Given the description of an element on the screen output the (x, y) to click on. 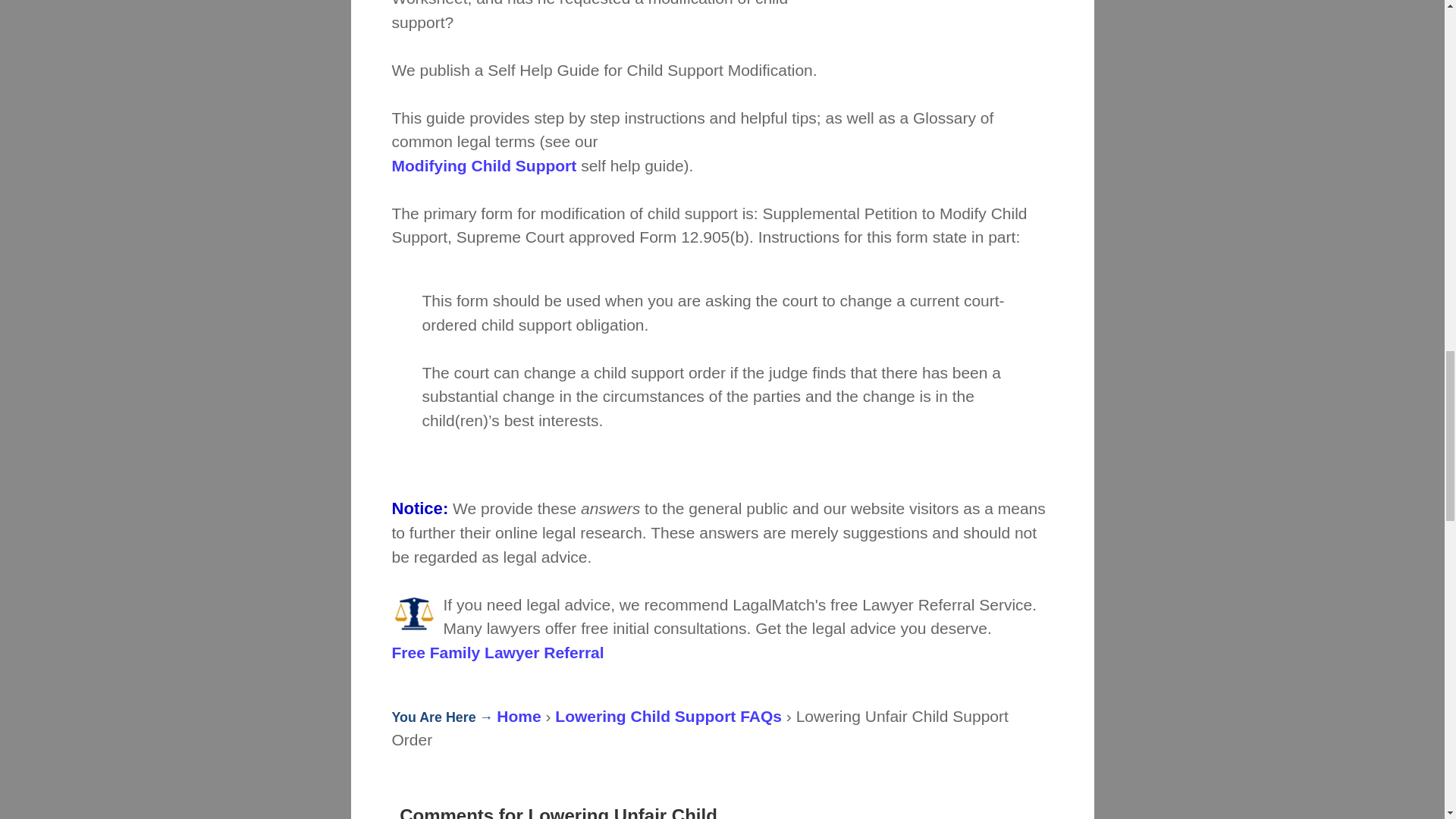
Free Family Lawyer Referral (497, 651)
Lowering Child Support FAQs (667, 715)
Free Referrals to Local Attorneys (497, 651)
Modifying Child Support (483, 165)
Free Family Lawyer Referrals (413, 615)
Home (518, 715)
